Given the description of an element on the screen output the (x, y) to click on. 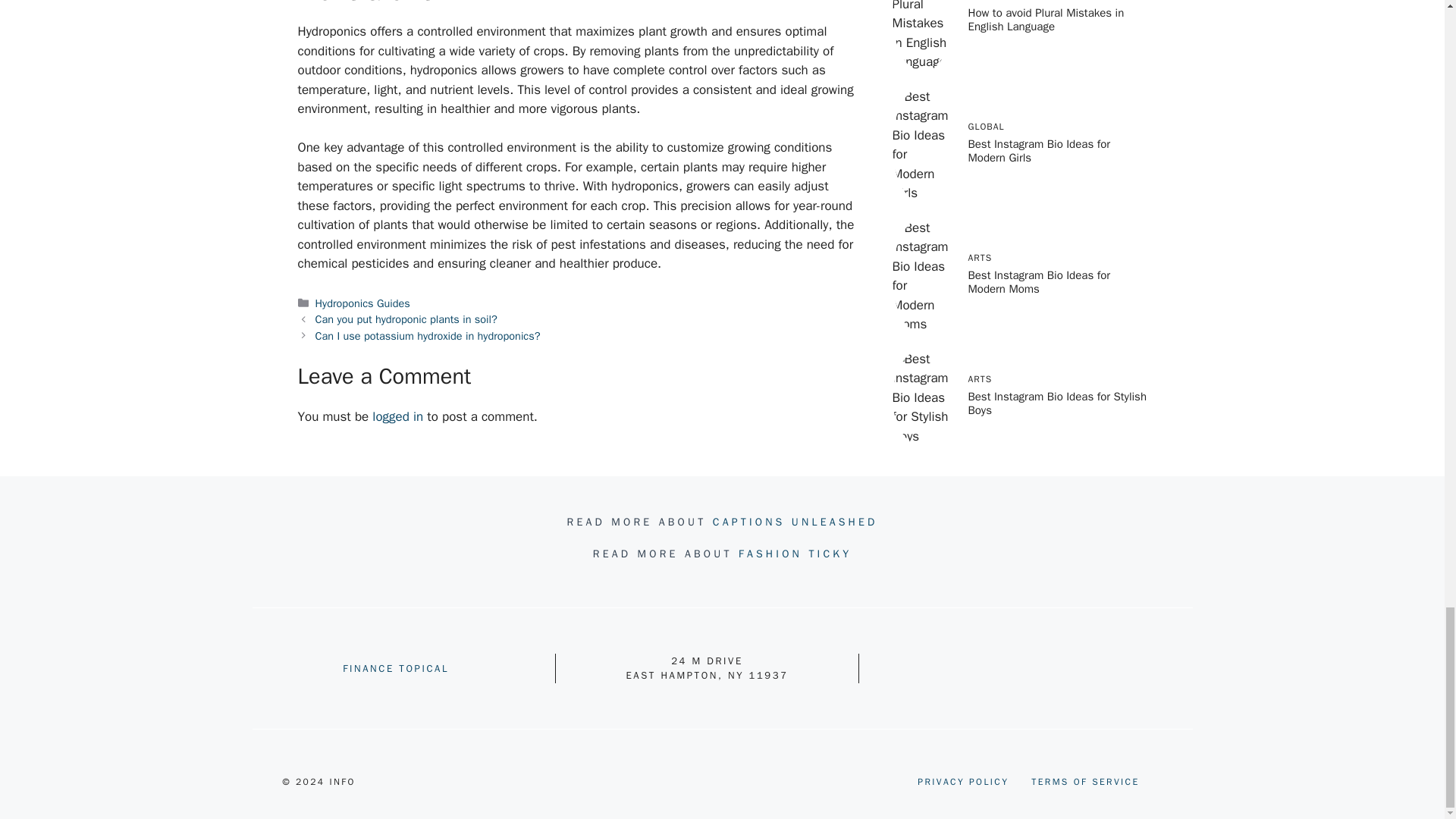
FASHION TICKY (794, 553)
Can I use potassium hydroxide in hydroponics? (427, 336)
CAPTIONS UNLEASHED (795, 521)
logged in (397, 416)
Can you put hydroponic plants in soil? (406, 318)
Hydroponics Guides (362, 303)
FINANCE TOPICAL (395, 667)
